Given the description of an element on the screen output the (x, y) to click on. 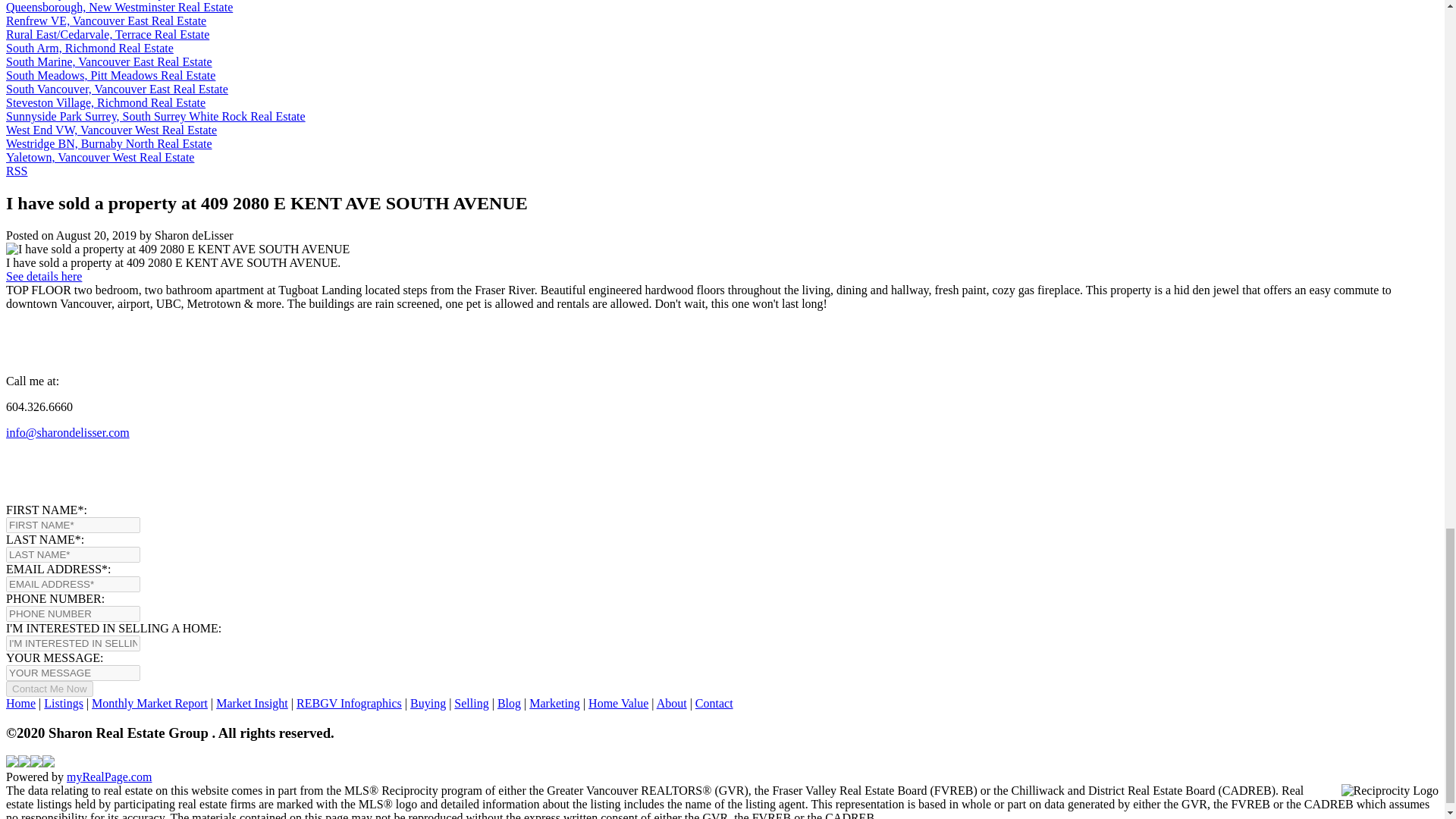
Blog (509, 703)
Marketing (554, 703)
Home Value (617, 703)
Contact (714, 703)
Monthly Market Report (149, 703)
Buying (427, 703)
Listings (62, 703)
Selling (470, 703)
REBGV Infographics (349, 703)
Home (19, 703)
Market Insight (251, 703)
About (671, 703)
